Given the description of an element on the screen output the (x, y) to click on. 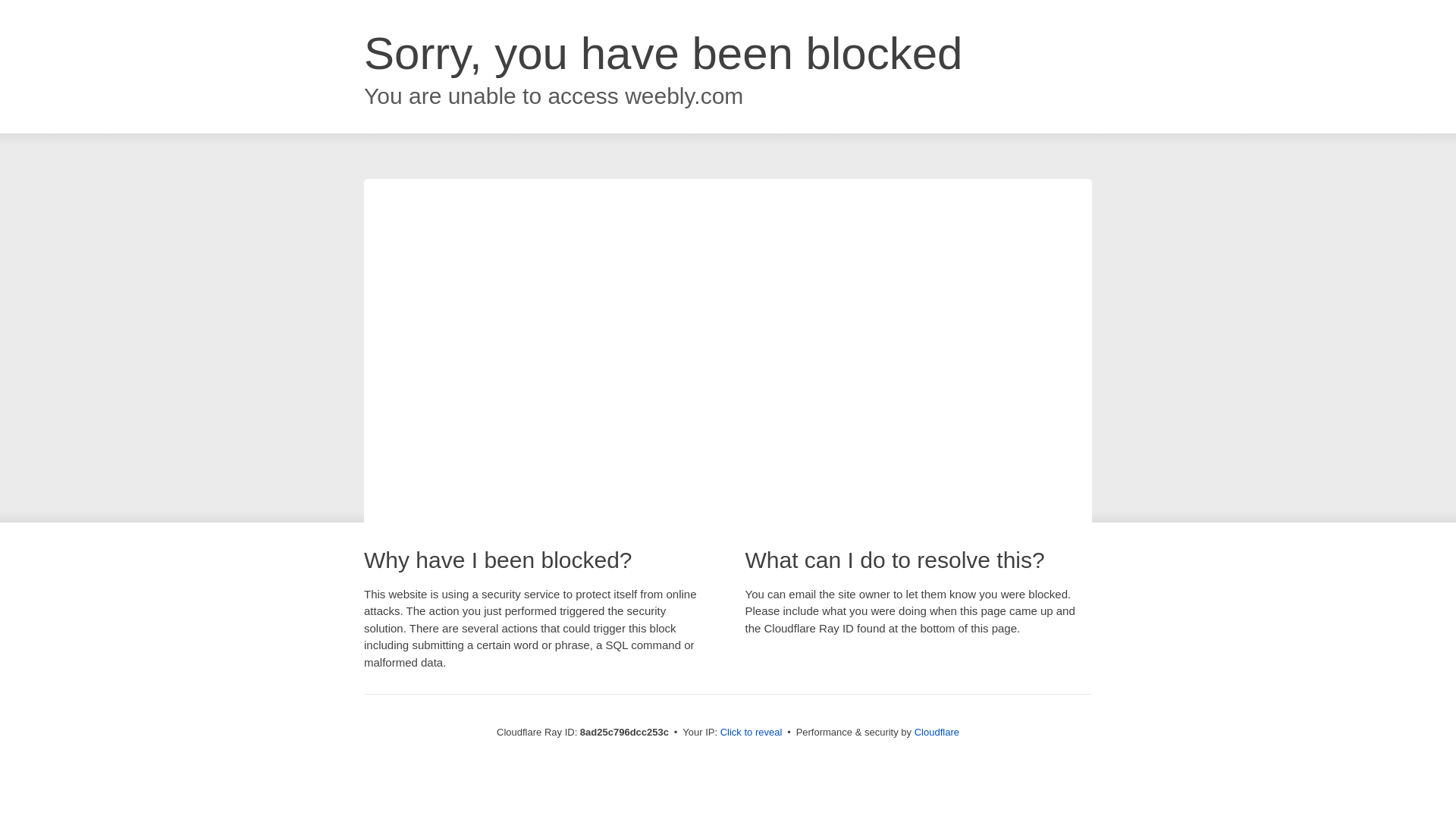
Click to reveal (751, 732)
Cloudflare (936, 731)
